Given the description of an element on the screen output the (x, y) to click on. 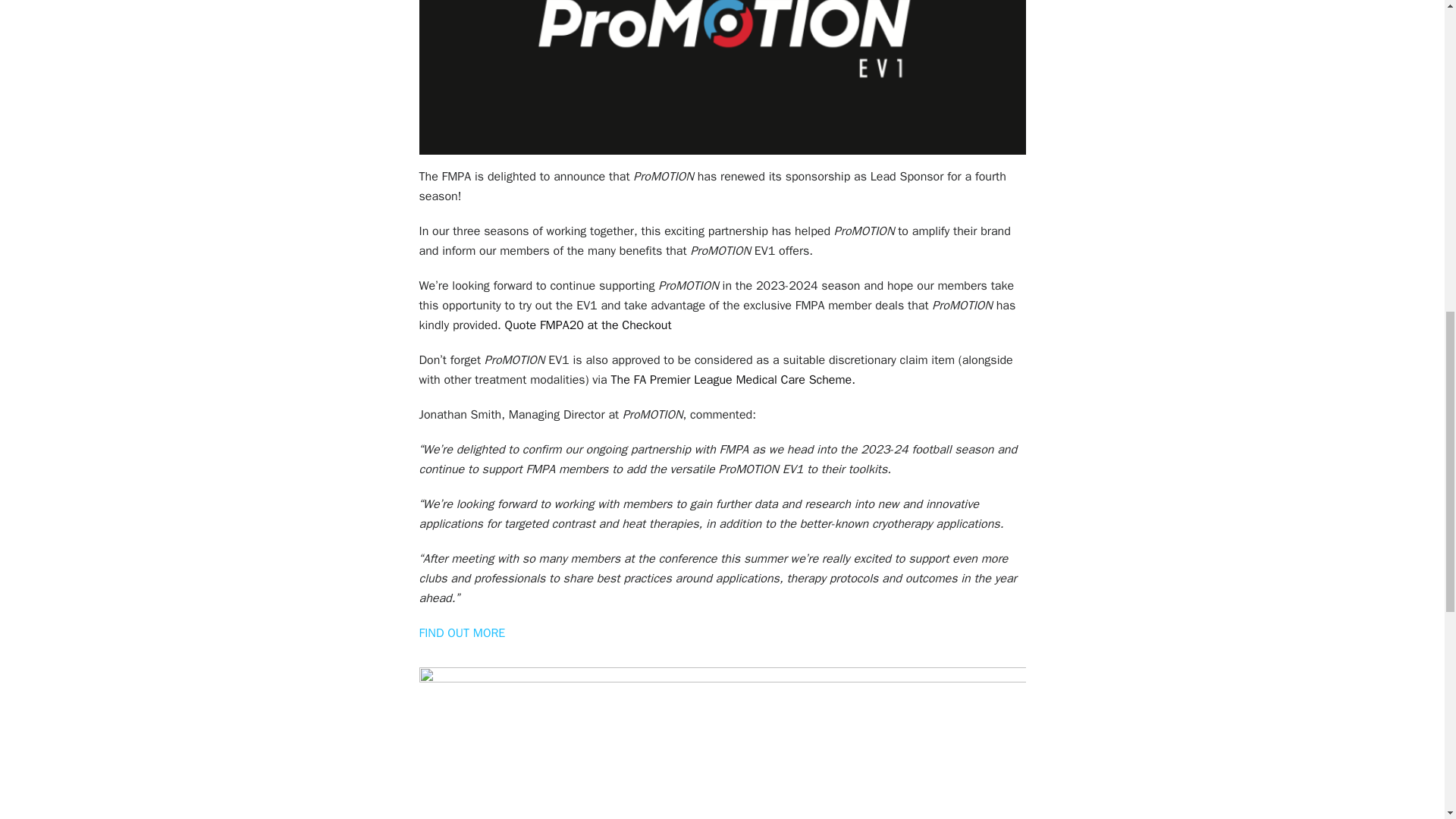
FIND OUT MORE (462, 632)
